Given the description of an element on the screen output the (x, y) to click on. 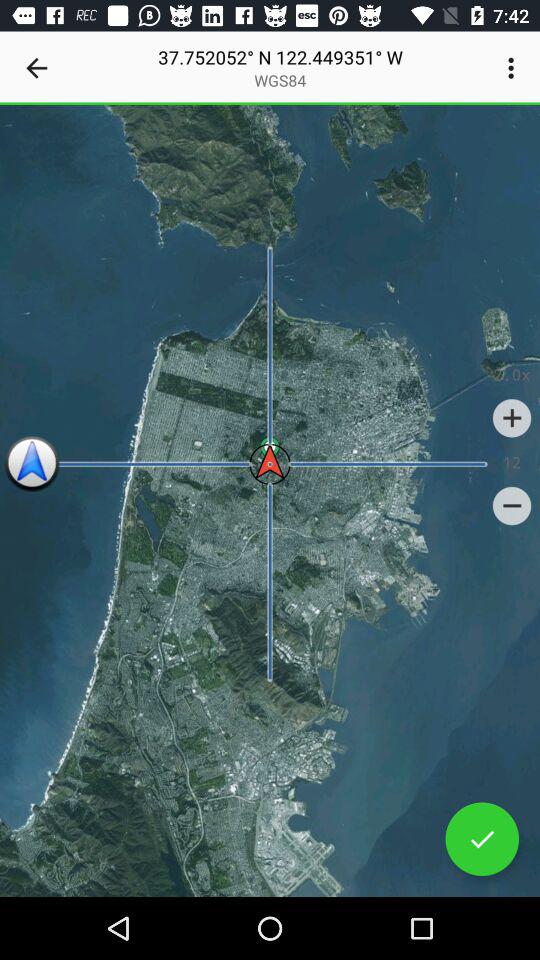
choose the item above 2.0x (513, 67)
